Given the description of an element on the screen output the (x, y) to click on. 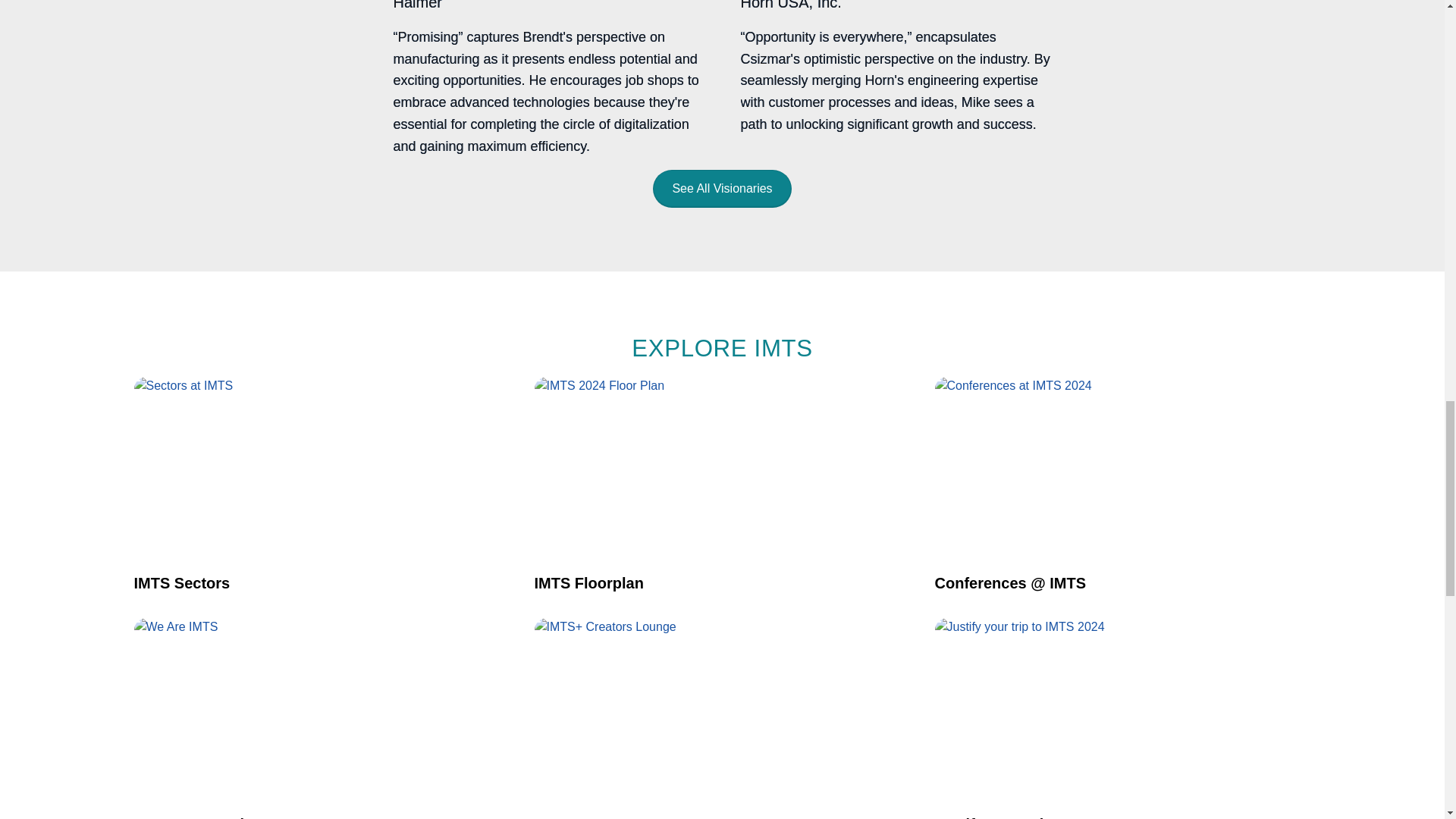
Read more about Michael Csizmar (895, 79)
Read more about Brendt Holden (548, 79)
